Given the description of an element on the screen output the (x, y) to click on. 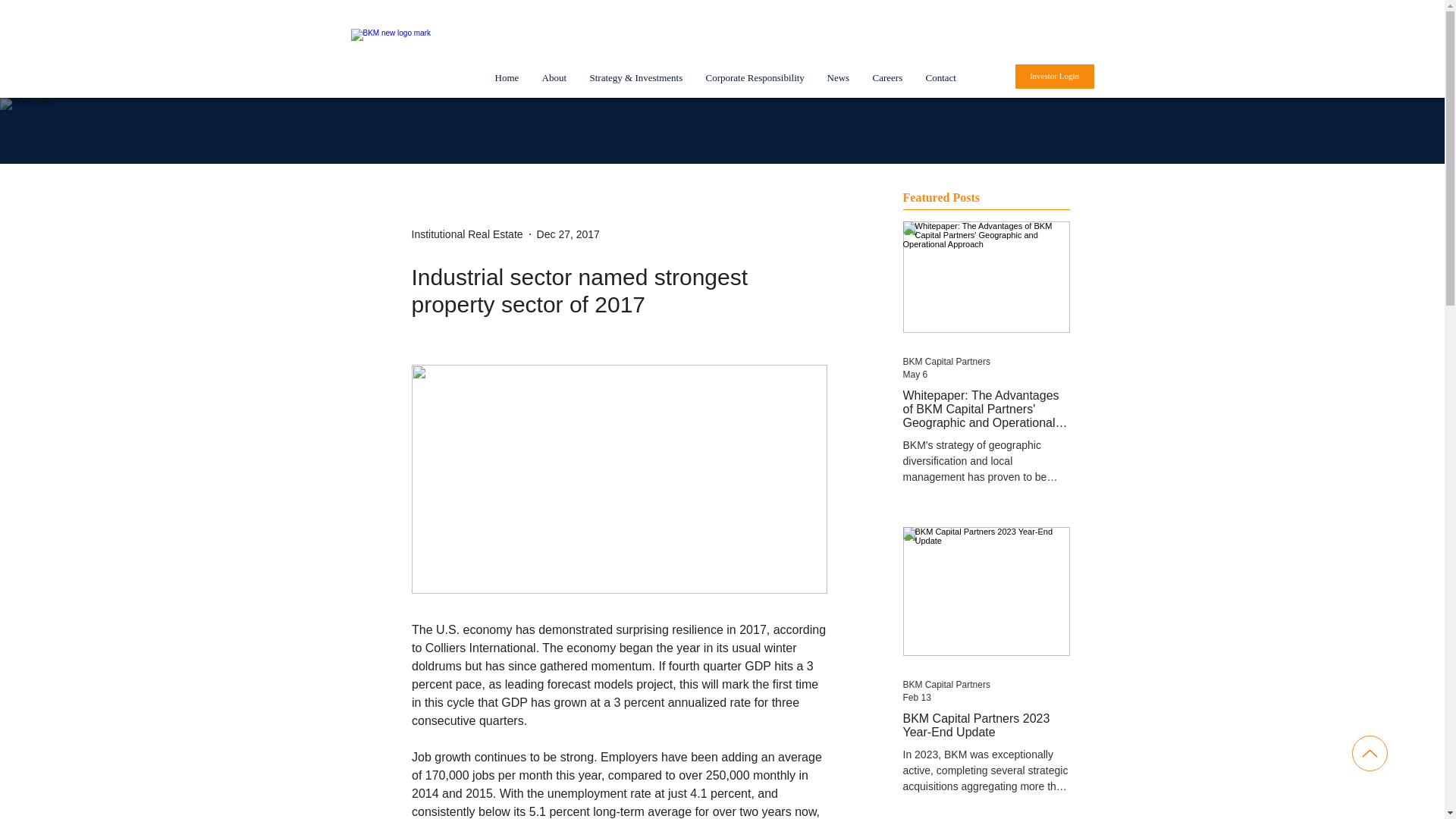
May 6 (914, 374)
About (554, 77)
Contact (941, 77)
BKM Capital Partners (946, 684)
Investor Login (1053, 76)
News (838, 77)
BKM Capital Partners (946, 361)
Careers (887, 77)
Institutional Real Estate (466, 233)
Corporate Responsibility (754, 77)
Feb 13 (916, 697)
BKM Capital Partners 2023 Year-End Update (985, 725)
Dec 27, 2017 (568, 233)
Home (507, 77)
